Given the description of an element on the screen output the (x, y) to click on. 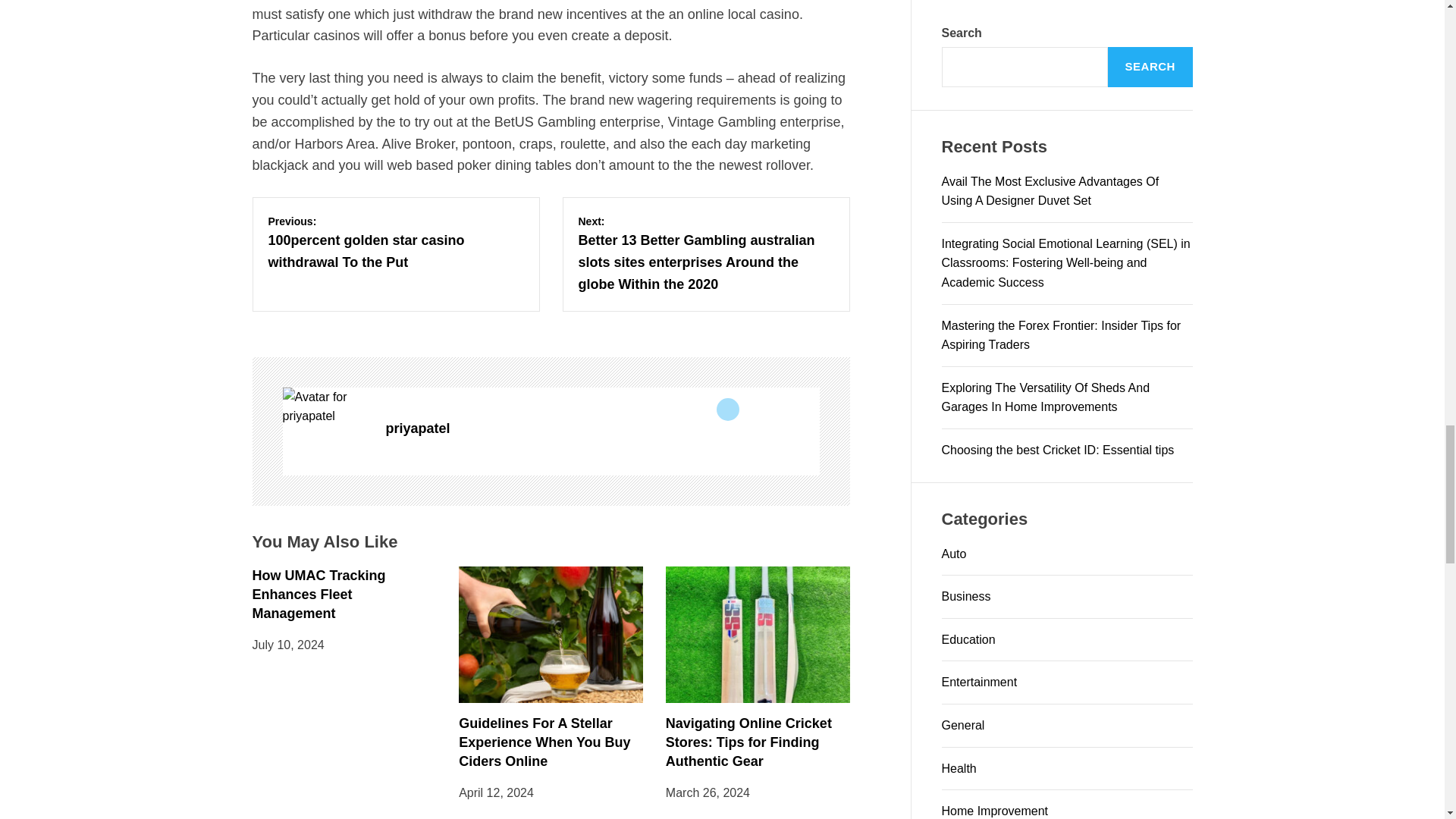
priyapatel (325, 406)
priyapatel (601, 428)
